Given the description of an element on the screen output the (x, y) to click on. 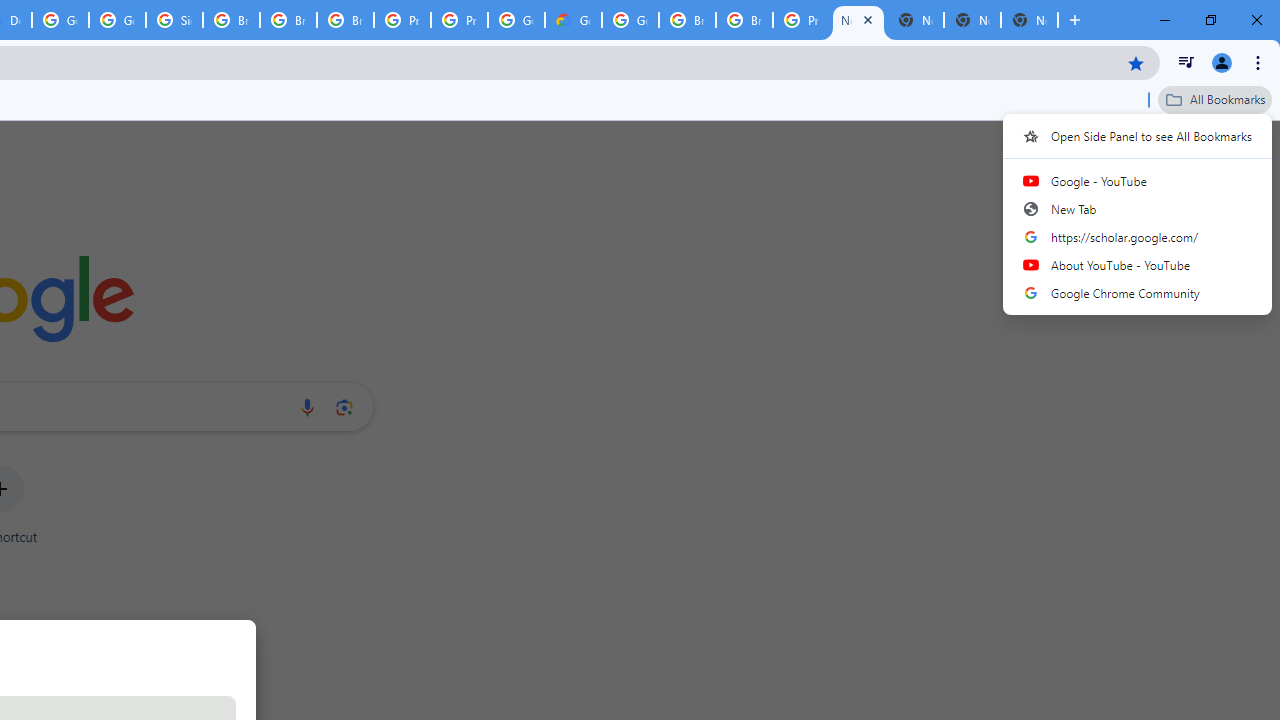
Chrome (1260, 62)
Restore (1210, 20)
Google Cloud Estimate Summary (573, 20)
You (1221, 62)
New Tab (1075, 20)
Google - YouTube (1137, 181)
Browse Chrome as a guest - Computer - Google Chrome Help (687, 20)
https://scholar.google.com/ (1137, 237)
About YouTube - YouTube (1137, 265)
Close (867, 19)
Sign in - Google Accounts (174, 20)
New Tab (1137, 209)
